Given the description of an element on the screen output the (x, y) to click on. 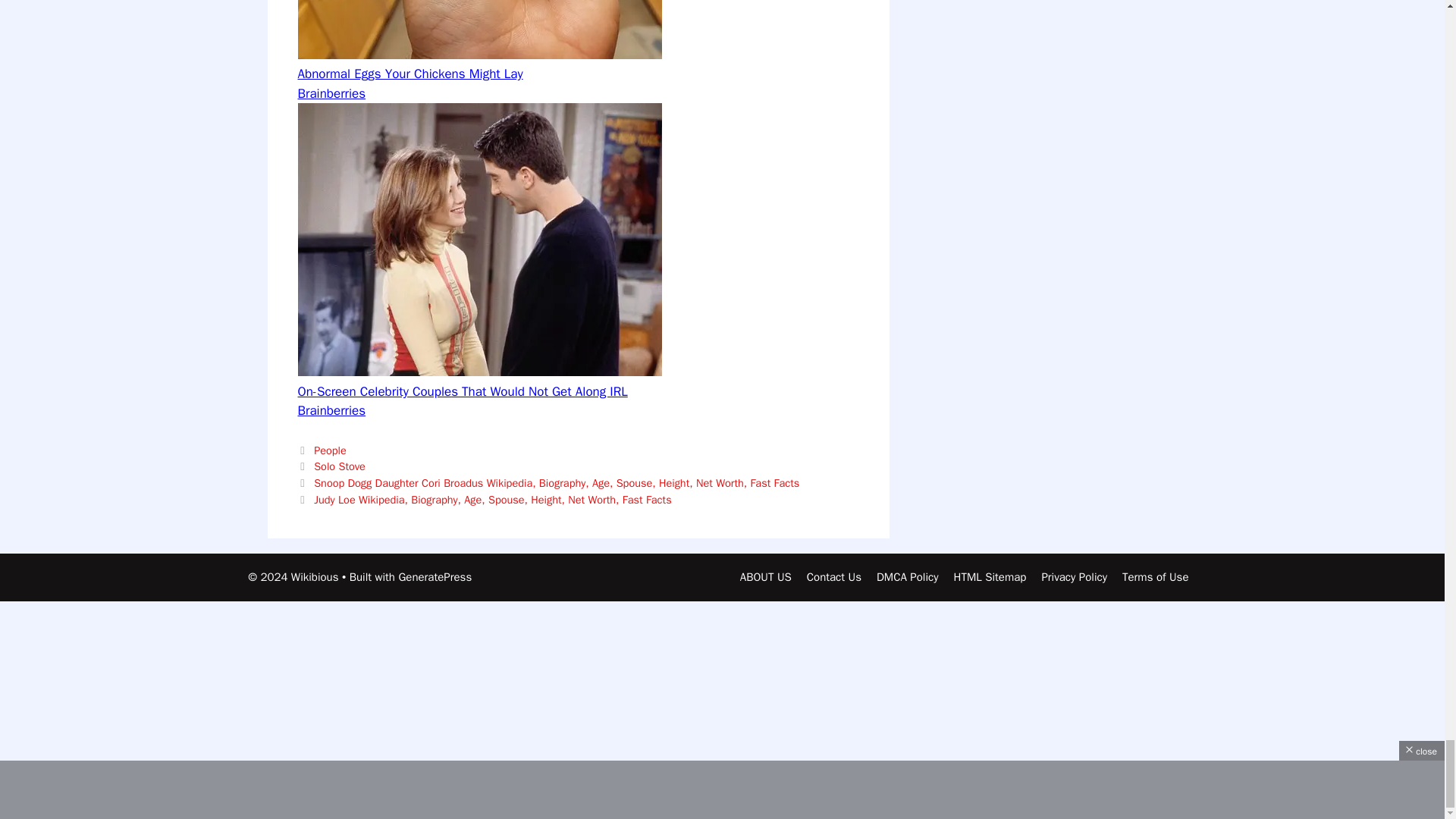
People (330, 450)
HTML Sitemap (989, 576)
Terms of Use (1155, 576)
DMCA Policy (907, 576)
GeneratePress (434, 576)
Contact Us (833, 576)
ABOUT US (765, 576)
Privacy Policy (1073, 576)
Solo Stove (339, 466)
